Given the description of an element on the screen output the (x, y) to click on. 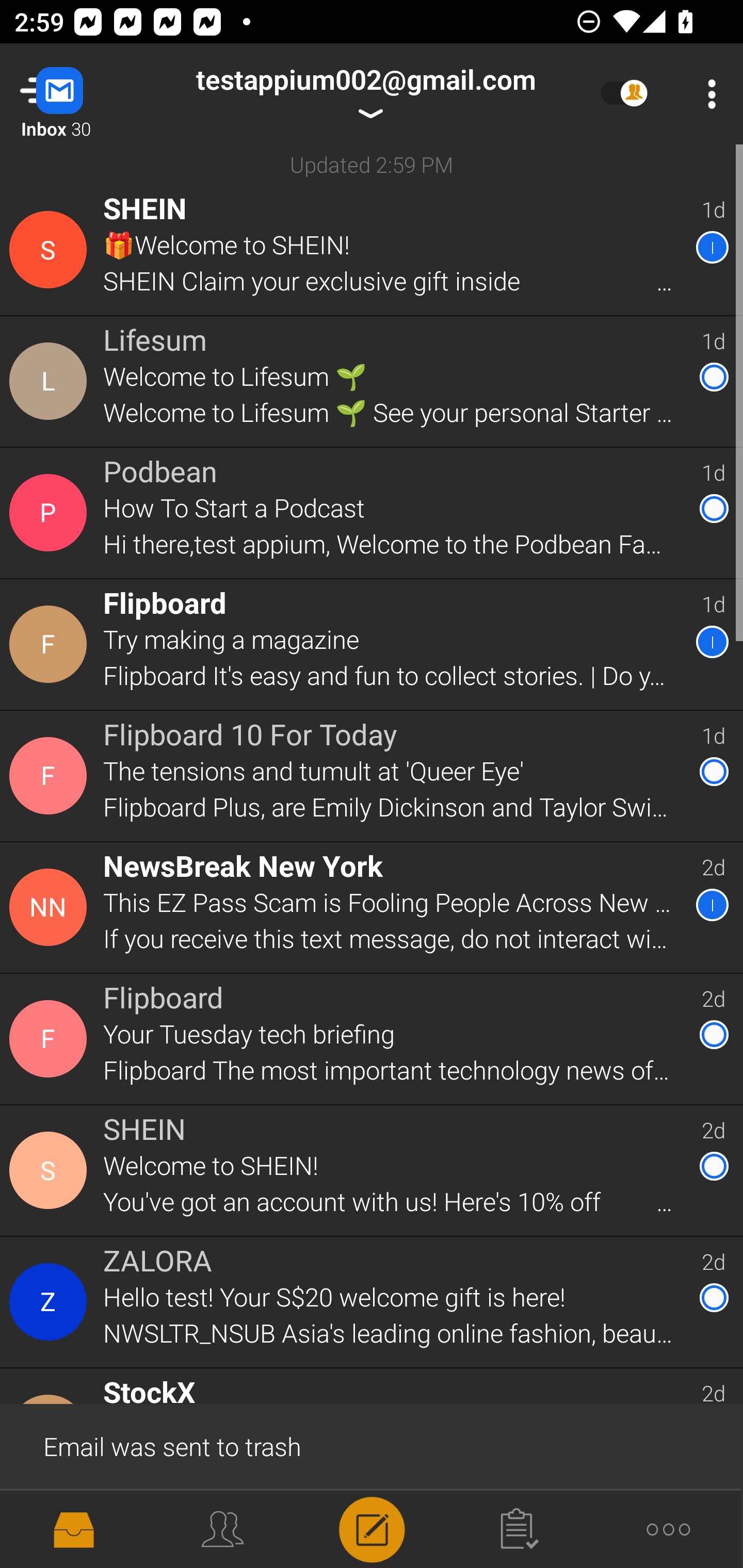
Navigate up (81, 93)
testappium002@gmail.com (365, 93)
More Options (706, 93)
Updated 2:59 PM (371, 164)
Contact Details (50, 250)
Contact Details (50, 381)
Contact Details (50, 513)
Contact Details (50, 644)
Contact Details (50, 776)
Contact Details (50, 907)
Contact Details (50, 1038)
Contact Details (50, 1170)
Contact Details (50, 1302)
Email was sent to trash (371, 1445)
